Given the description of an element on the screen output the (x, y) to click on. 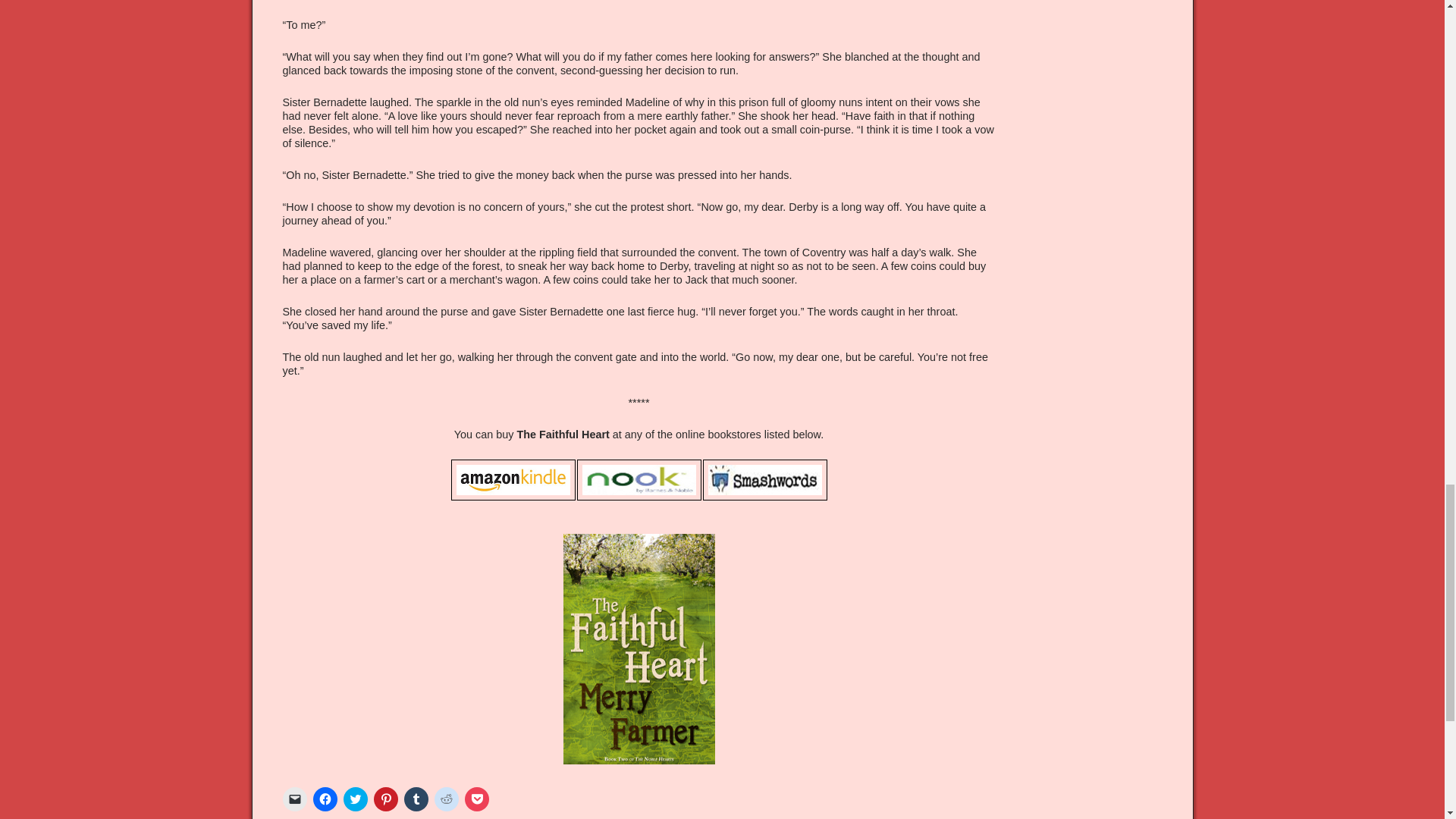
Click to share on Reddit (445, 799)
Click to share on Pocket (475, 799)
Click to email a link to a friend (293, 799)
Click to share on Facebook (324, 799)
Click to share on Tumblr (415, 799)
Click to share on Twitter (354, 799)
Buy The Faithful Heart on Smashwords (764, 479)
Click to share on Pinterest (384, 799)
Buy The Faithful Heart on Amazon (512, 479)
